Given the description of an element on the screen output the (x, y) to click on. 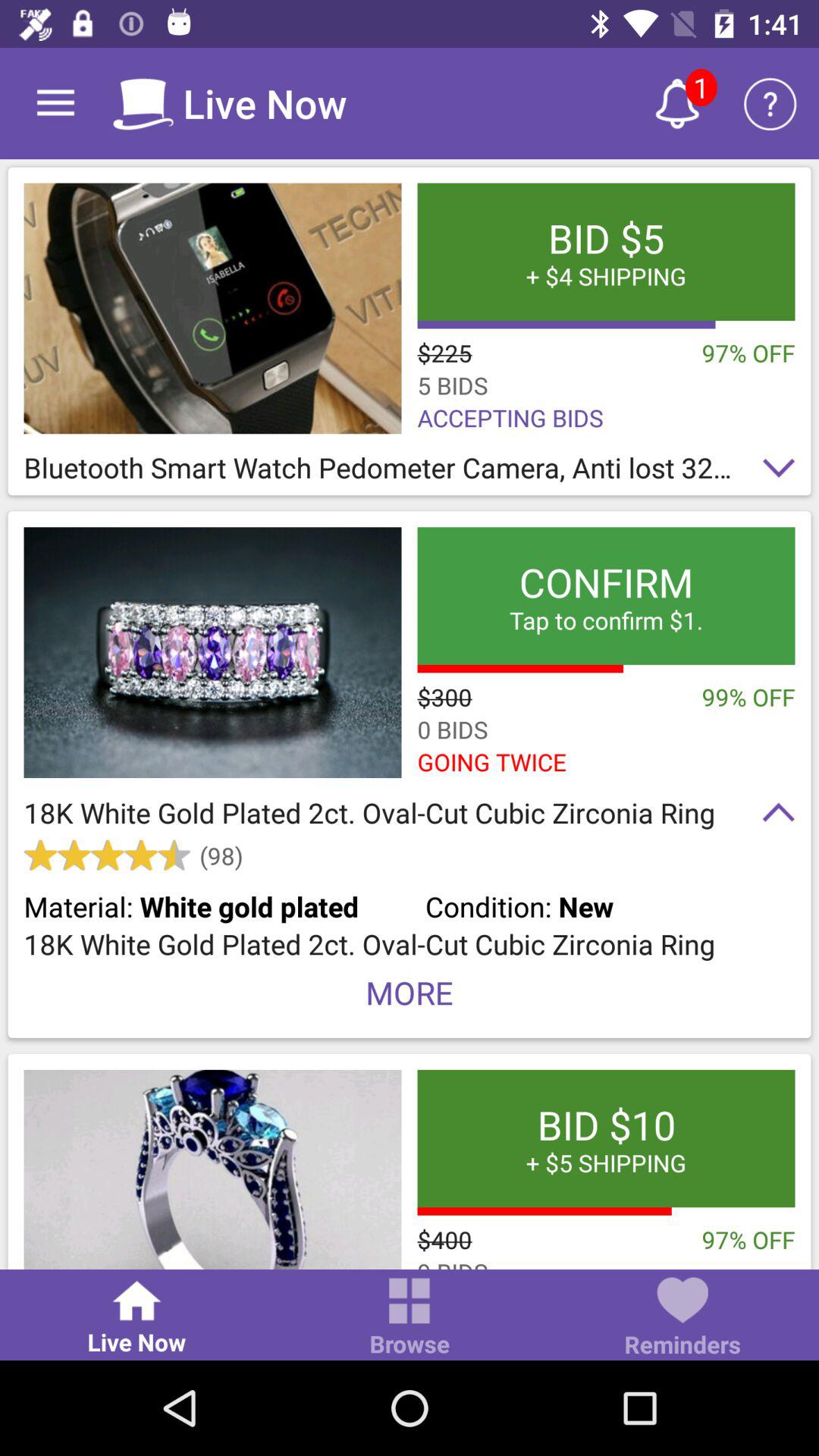
go to offer (212, 308)
